Given the description of an element on the screen output the (x, y) to click on. 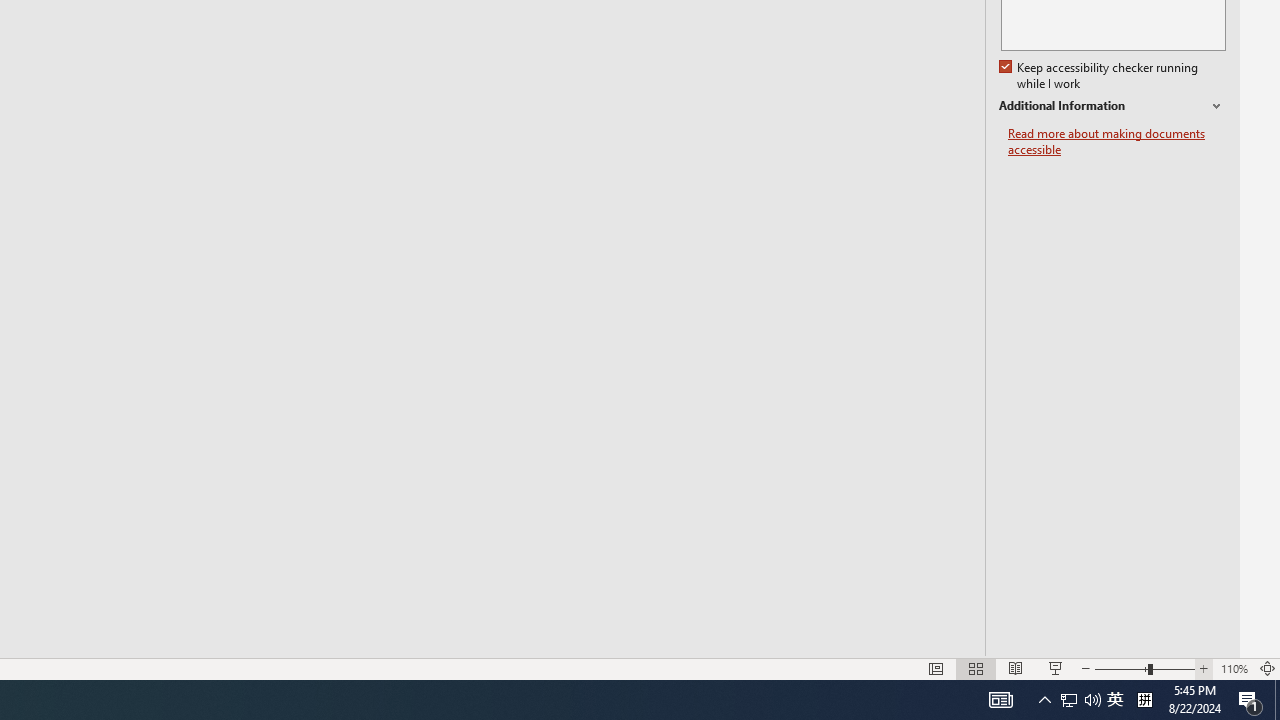
Keep accessibility checker running while I work (1099, 76)
Read more about making documents accessible (1117, 142)
Zoom In (1204, 668)
Slide Sorter (975, 668)
Slide Show (1055, 668)
Zoom (1144, 668)
Zoom to Fit  (1267, 668)
Additional Information (1112, 106)
Zoom 110% (1234, 668)
Normal (936, 668)
Reading View (1015, 668)
Zoom Out (1121, 668)
